Given the description of an element on the screen output the (x, y) to click on. 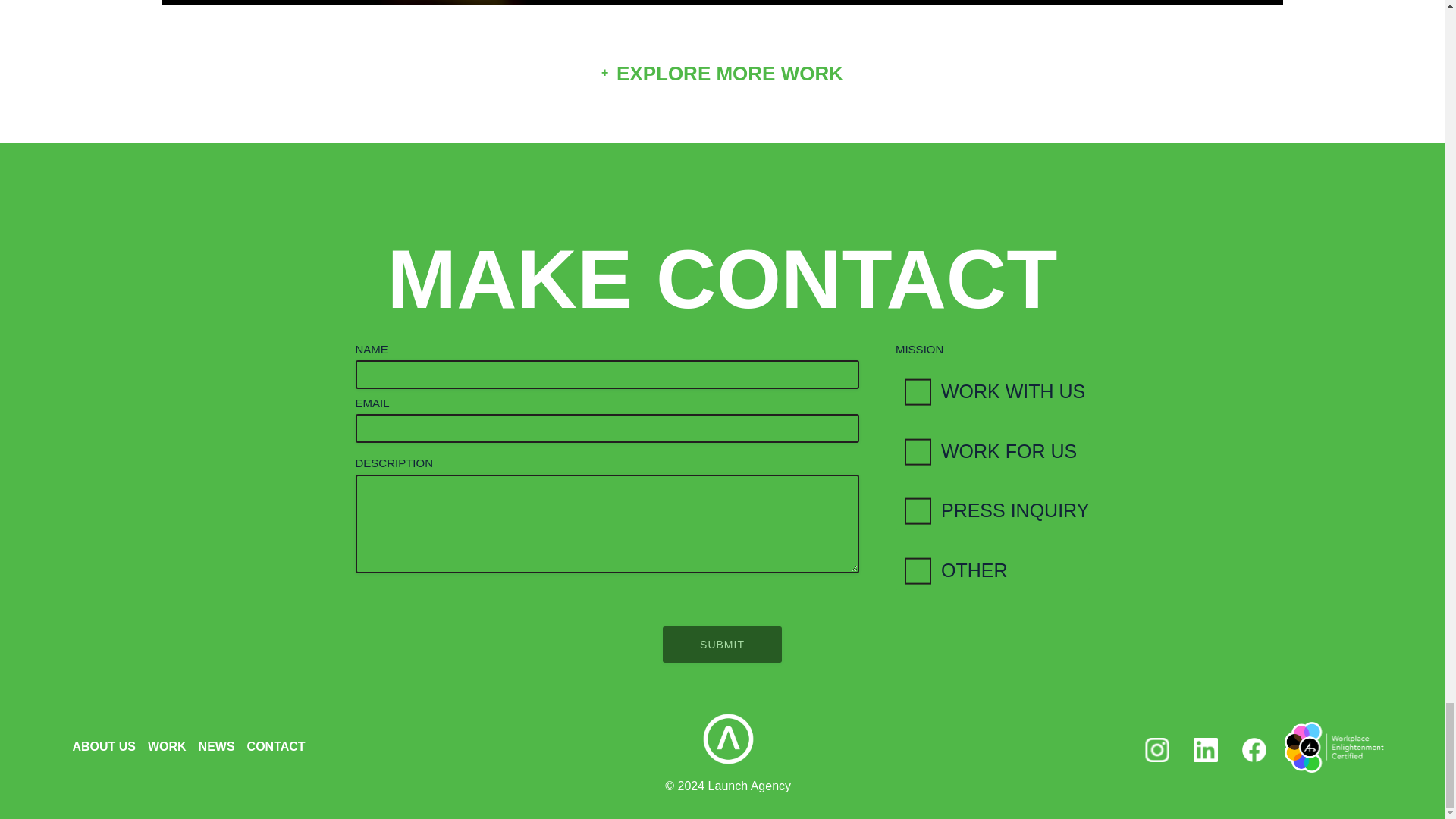
CONTACT (276, 746)
EXPLORE MORE WORK (722, 74)
OTHER (992, 570)
Submit (721, 644)
WORK WITH US (992, 392)
Contact Us (722, 278)
NEWS (216, 746)
WORK FOR US (992, 451)
MAKE CONTACT (722, 278)
PRESS INQUIRY (992, 510)
WORK (167, 746)
ABOUT US (103, 746)
Submit (721, 644)
